Given the description of an element on the screen output the (x, y) to click on. 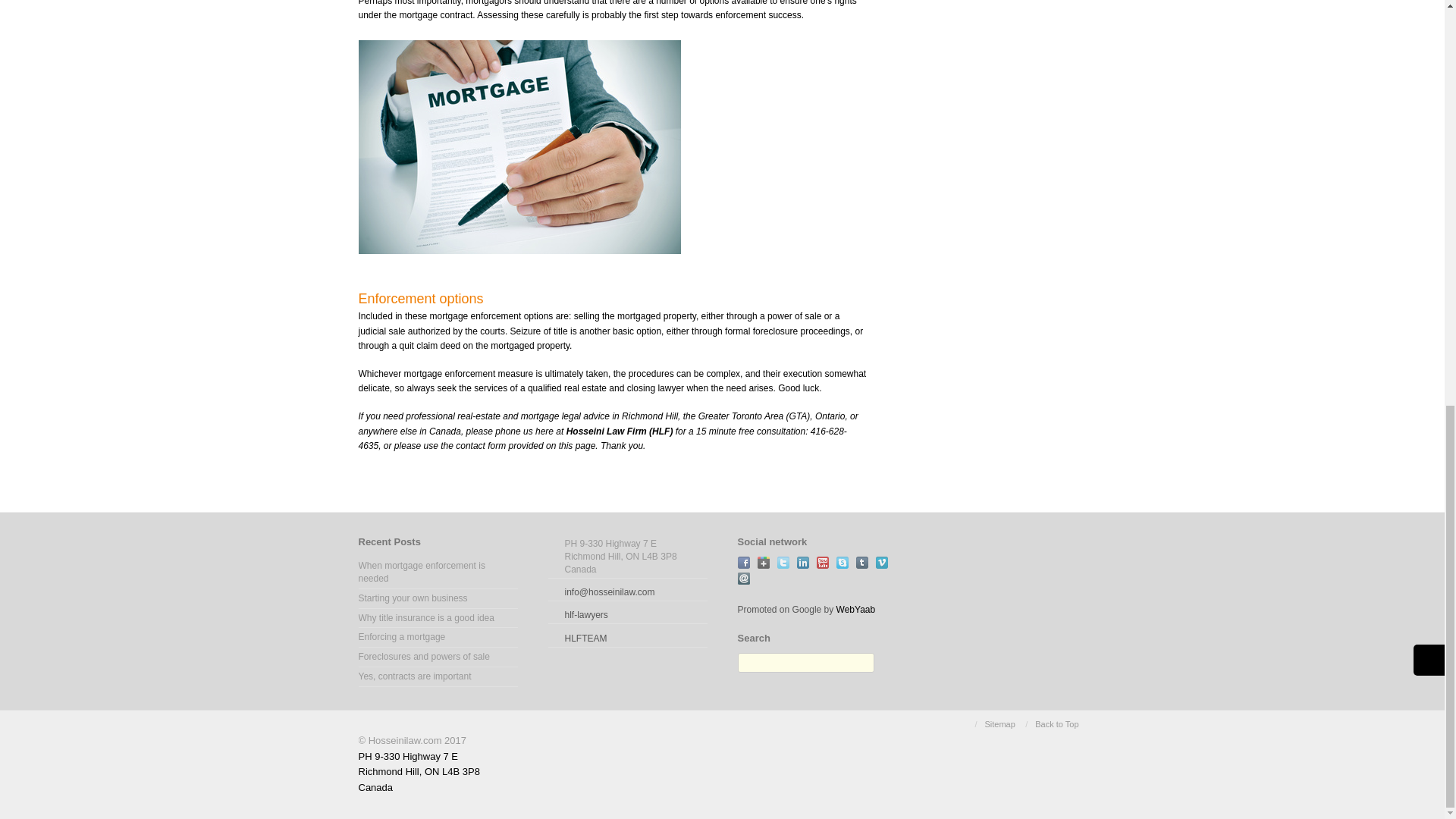
Follow Us on YouTube (821, 562)
Follow Us on E-mail (742, 578)
Follow Us on Skype (841, 562)
Follow Us on Tumblr (861, 562)
Search (884, 663)
Search (884, 663)
Follow Us on Twitter (782, 562)
Follow Us on Vimeo (880, 562)
Follow Us on LinkedIn (802, 562)
Follow Us on Facebook (742, 562)
